Given the description of an element on the screen output the (x, y) to click on. 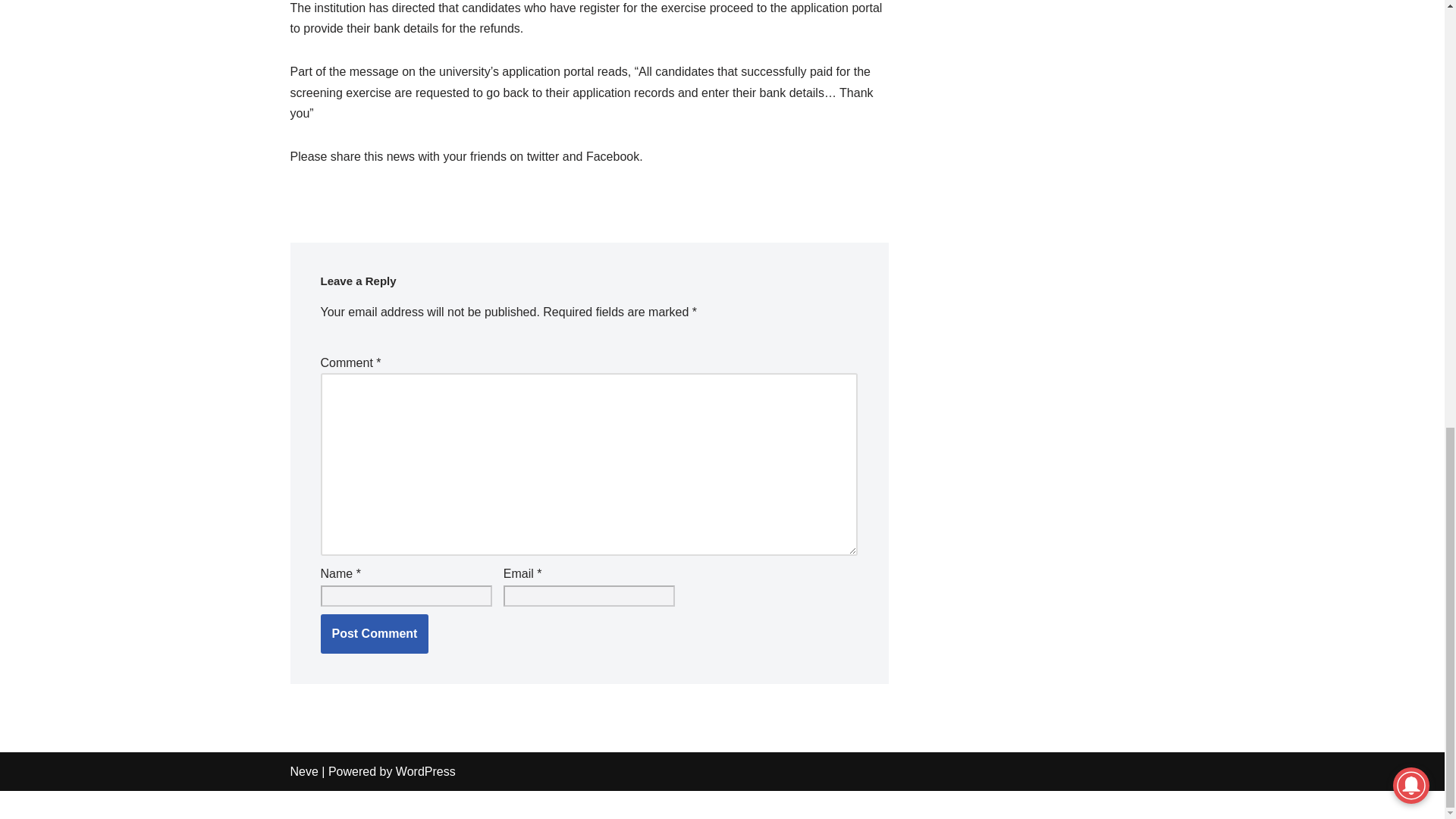
Post Comment (374, 633)
